Given the description of an element on the screen output the (x, y) to click on. 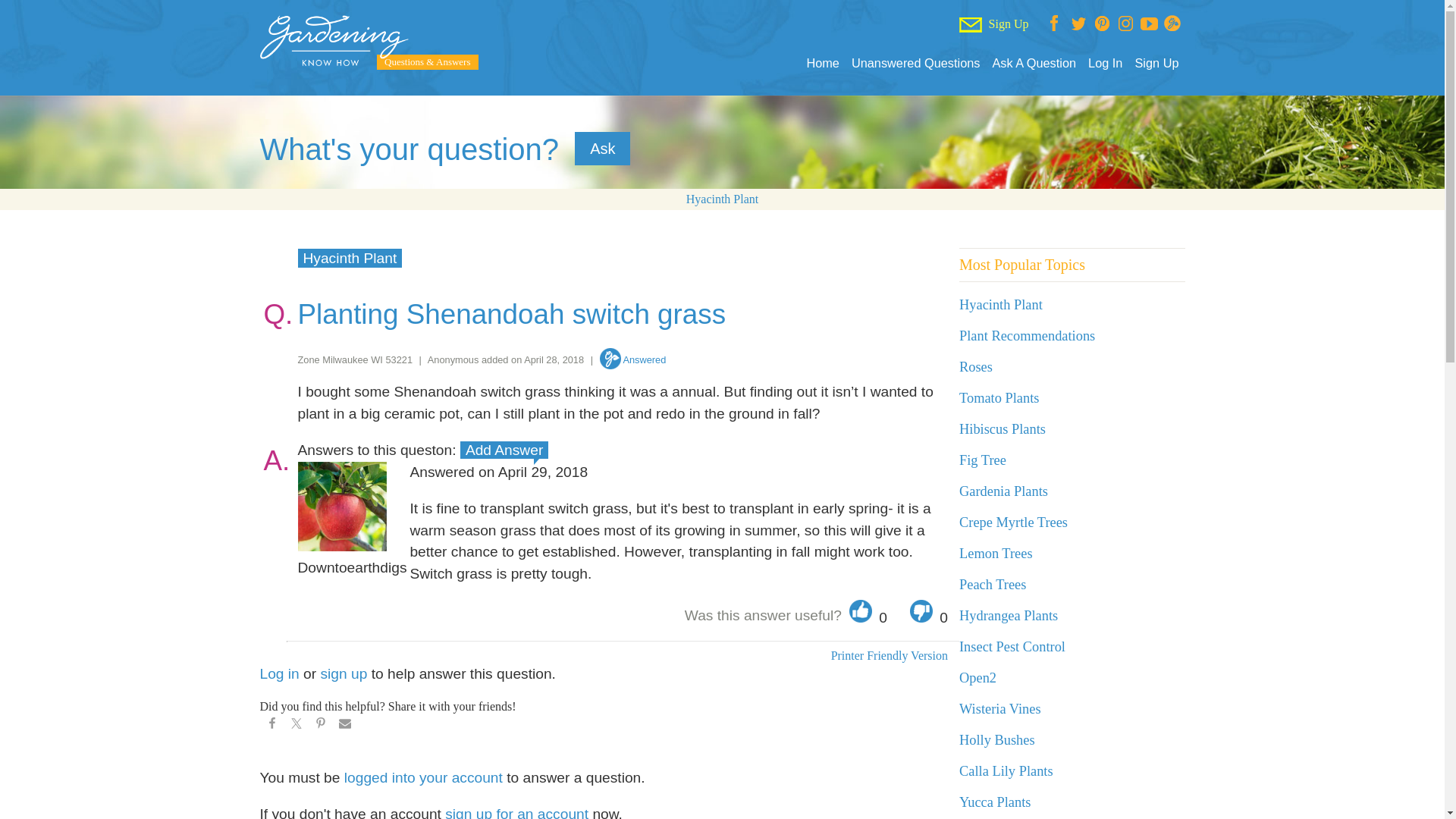
Roses (975, 366)
Unanswered Questions (916, 62)
Gardenia Plants (1003, 491)
Hyacinth Plant (721, 198)
Printer Friendly Version (877, 767)
Lemon Trees (995, 553)
Hibiscus Plants (1002, 428)
Fig Tree (982, 459)
Hydrangea Plants (1008, 615)
Tomato Plants (999, 397)
